Given the description of an element on the screen output the (x, y) to click on. 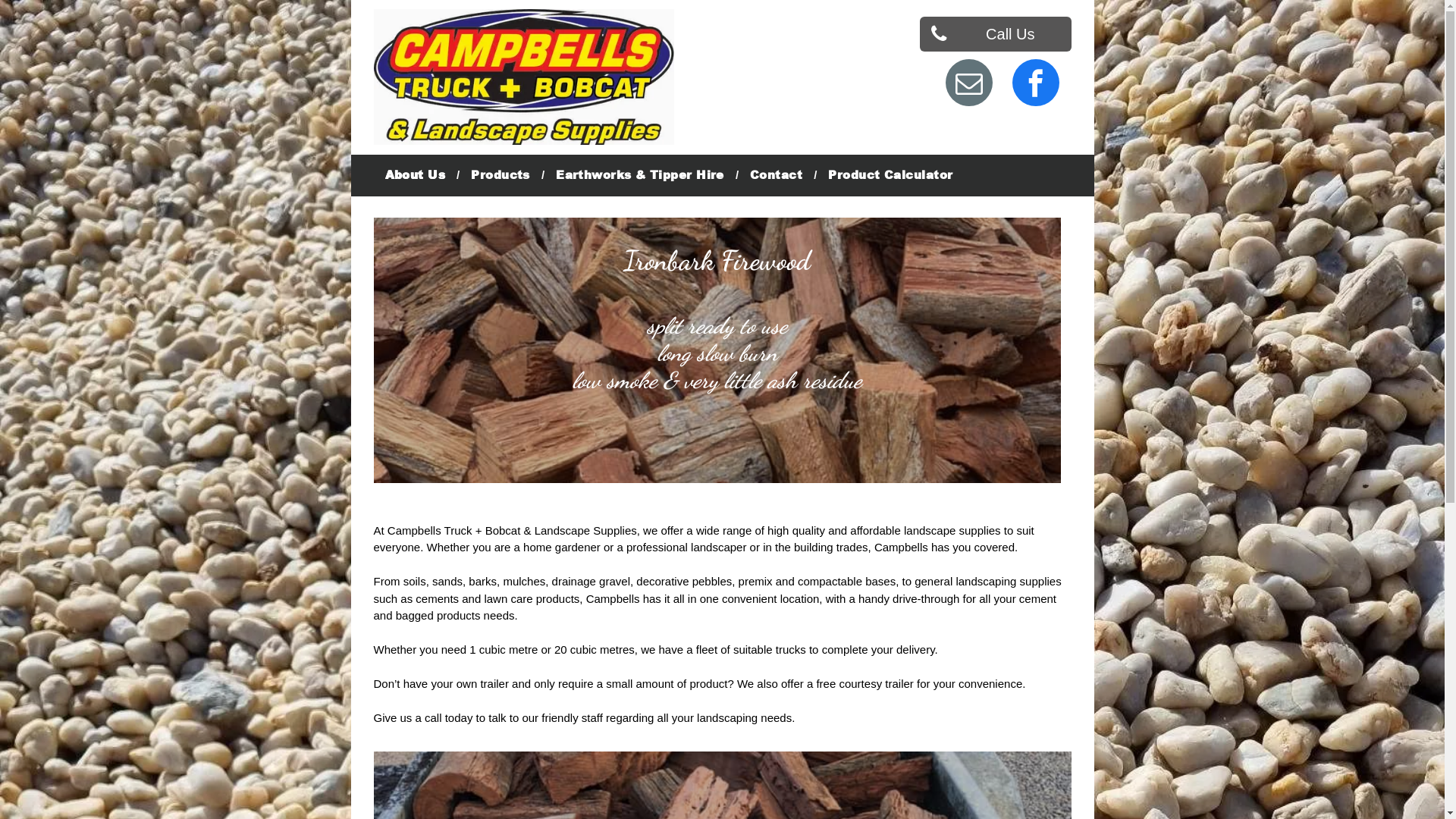
Call Us Element type: text (994, 33)
Products Element type: text (500, 175)
Product Calculator Element type: text (889, 175)
Contact Element type: text (775, 175)
Earthworks & Tipper Hire Element type: text (639, 175)
About Us Element type: text (414, 175)
